Given the description of an element on the screen output the (x, y) to click on. 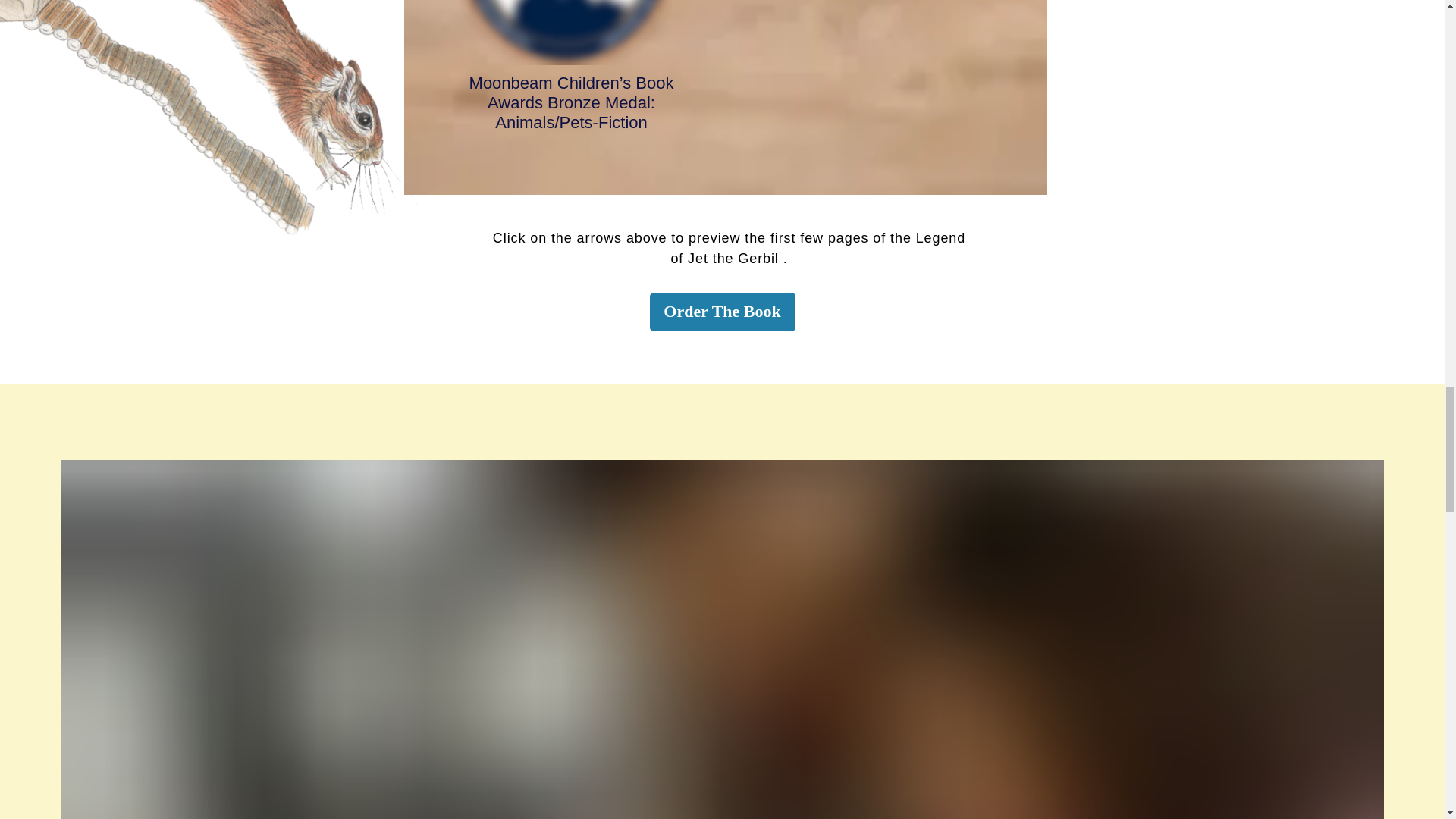
Order The Book (721, 311)
